Given the description of an element on the screen output the (x, y) to click on. 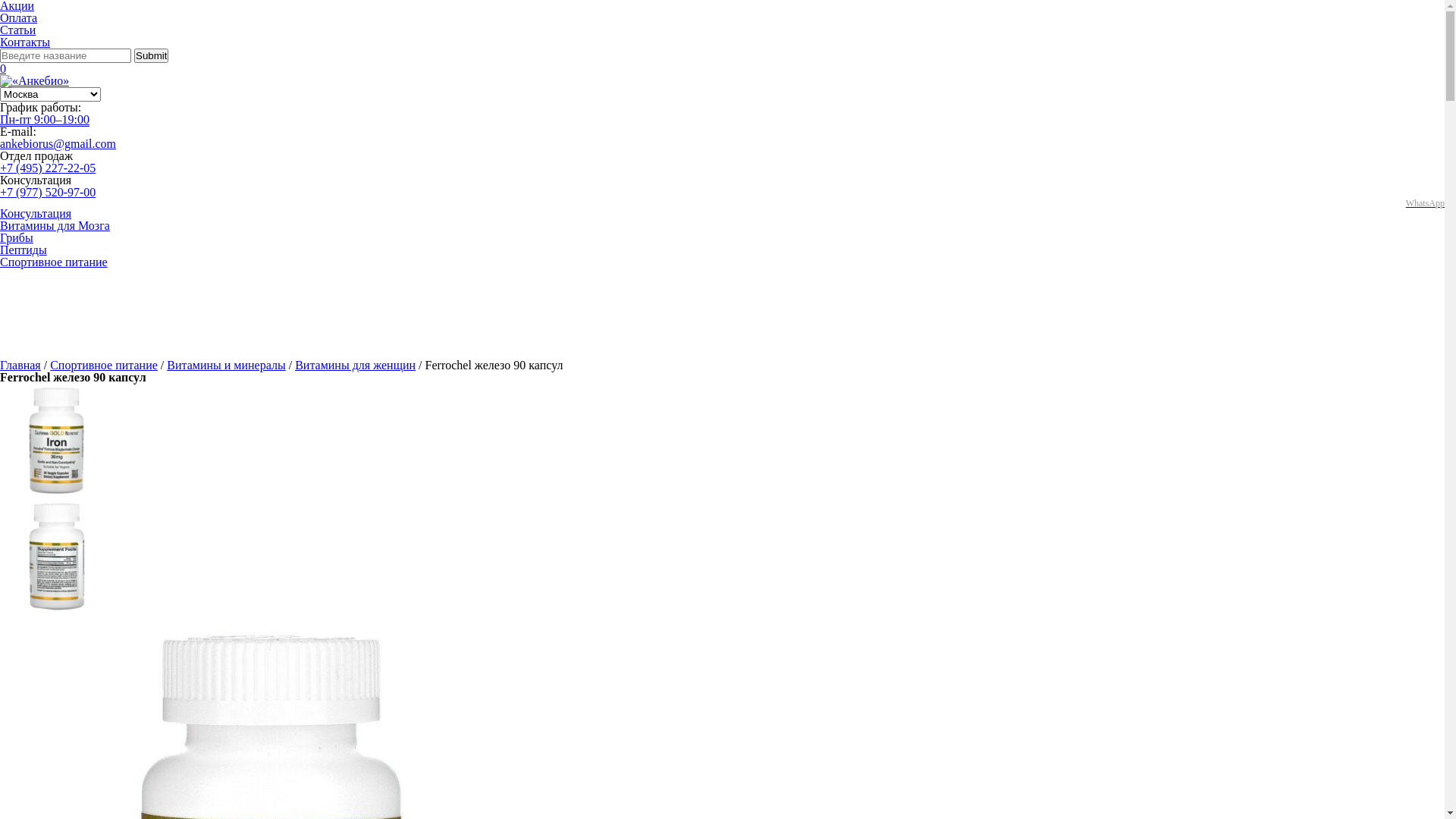
ankebiorus@gmail.com Element type: text (58, 143)
+7 (495) 227-22-05 Element type: text (47, 167)
0 Element type: text (3, 68)
+7 (977) 520-97-00
WhatsApp Element type: text (722, 196)
